Given the description of an element on the screen output the (x, y) to click on. 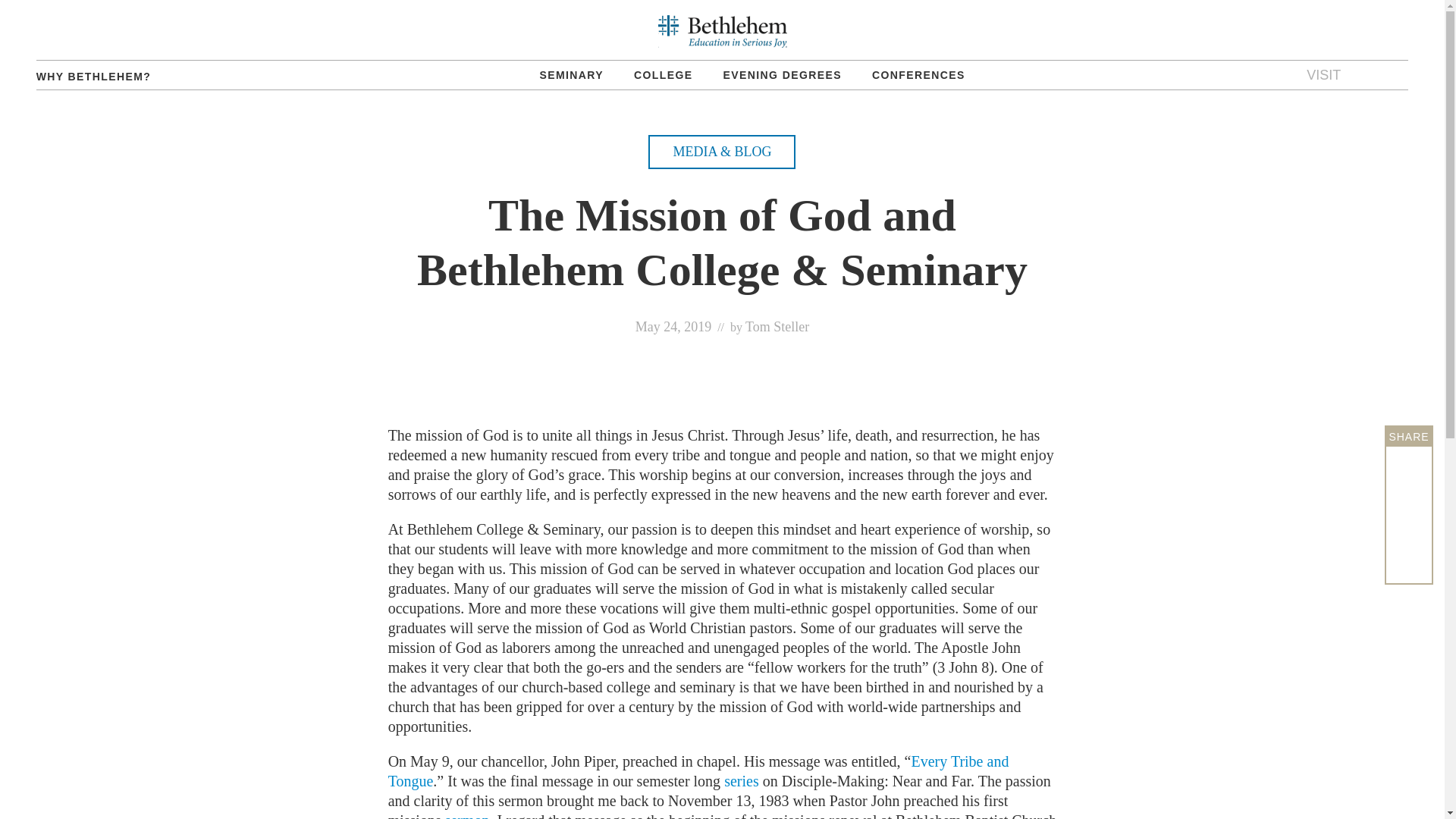
VISIT (1323, 74)
EVENING DEGREES (782, 74)
CONFERENCES (918, 74)
COLLEGE (662, 74)
Every Tribe and Tongue (698, 770)
Tom Steller (777, 326)
Share by Email (1409, 558)
May 24, 2019 (672, 326)
SEMINARY (571, 74)
Bethlehem College and Seminary (722, 31)
